Given the description of an element on the screen output the (x, y) to click on. 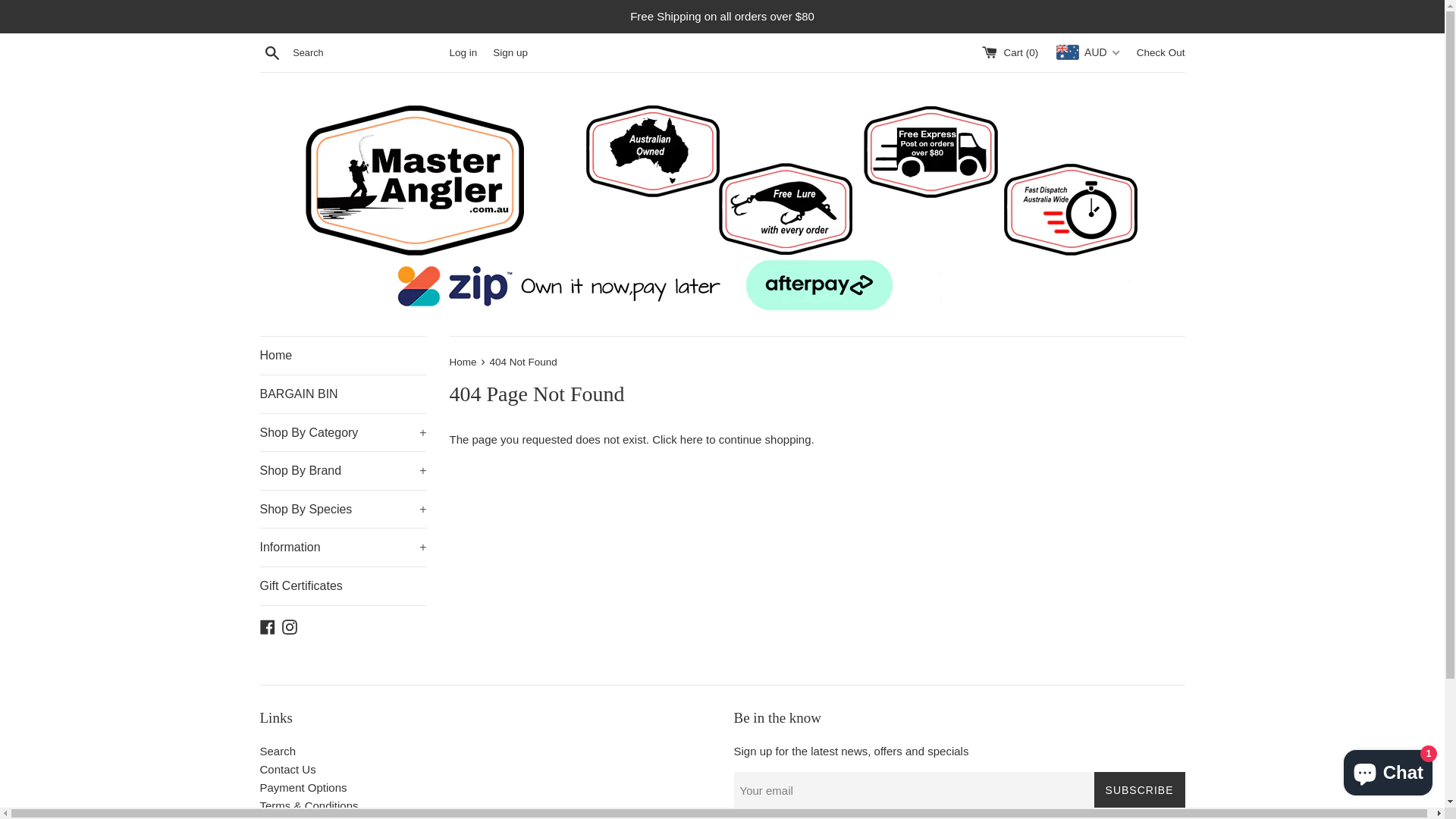
Information
+ Element type: text (342, 547)
Sign up Element type: text (509, 52)
Shop By Species
+ Element type: text (342, 509)
Facebook Element type: text (266, 625)
Contact Us Element type: text (287, 768)
BARGAIN BIN Element type: text (342, 394)
Shopify online store chat Element type: hover (1388, 769)
Shop By Category
+ Element type: text (342, 432)
Instagram Element type: text (289, 625)
Search Element type: text (271, 52)
Payment Options Element type: text (302, 787)
Home Element type: text (342, 355)
SUBSCRIBE Element type: text (1139, 789)
here Element type: text (691, 439)
Search Element type: text (277, 750)
Log in Element type: text (462, 52)
Check Out Element type: text (1160, 52)
Cart (0) Element type: text (1011, 52)
Gift Certificates Element type: text (342, 586)
Shop By Brand
+ Element type: text (342, 470)
Home Element type: text (463, 361)
Terms & Conditions Element type: text (308, 805)
